Given the description of an element on the screen output the (x, y) to click on. 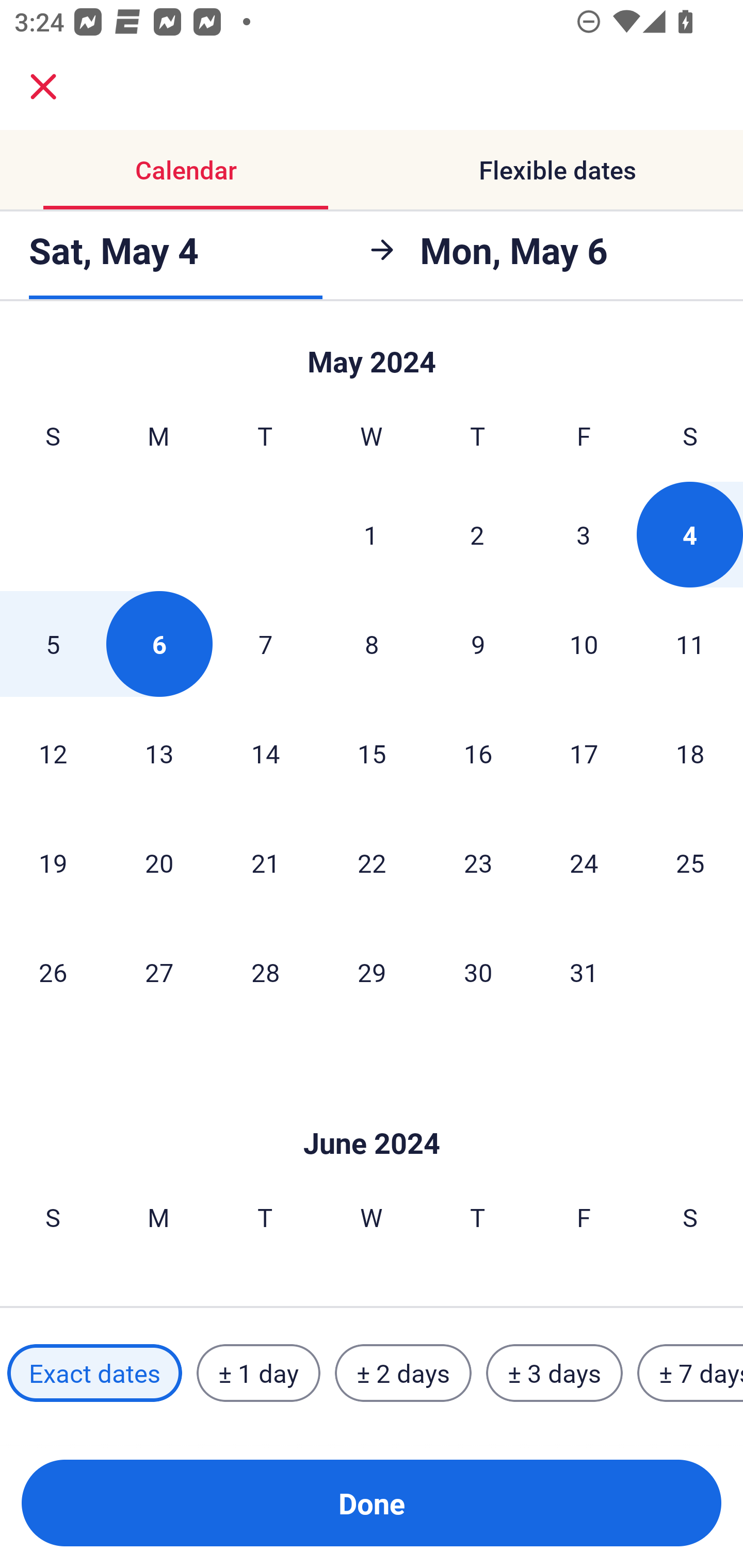
close. (43, 86)
Flexible dates (557, 170)
Skip to Done (371, 352)
1 Wednesday, May 1, 2024 (371, 534)
2 Thursday, May 2, 2024 (477, 534)
3 Friday, May 3, 2024 (583, 534)
7 Tuesday, May 7, 2024 (265, 643)
8 Wednesday, May 8, 2024 (371, 643)
9 Thursday, May 9, 2024 (477, 643)
10 Friday, May 10, 2024 (584, 643)
11 Saturday, May 11, 2024 (690, 643)
12 Sunday, May 12, 2024 (53, 752)
13 Monday, May 13, 2024 (159, 752)
14 Tuesday, May 14, 2024 (265, 752)
15 Wednesday, May 15, 2024 (371, 752)
16 Thursday, May 16, 2024 (477, 752)
17 Friday, May 17, 2024 (584, 752)
18 Saturday, May 18, 2024 (690, 752)
19 Sunday, May 19, 2024 (53, 862)
20 Monday, May 20, 2024 (159, 862)
21 Tuesday, May 21, 2024 (265, 862)
22 Wednesday, May 22, 2024 (371, 862)
23 Thursday, May 23, 2024 (477, 862)
24 Friday, May 24, 2024 (584, 862)
25 Saturday, May 25, 2024 (690, 862)
26 Sunday, May 26, 2024 (53, 971)
27 Monday, May 27, 2024 (159, 971)
28 Tuesday, May 28, 2024 (265, 971)
29 Wednesday, May 29, 2024 (371, 971)
30 Thursday, May 30, 2024 (477, 971)
31 Friday, May 31, 2024 (584, 971)
Skip to Done (371, 1112)
Exact dates (94, 1372)
± 1 day (258, 1372)
± 2 days (403, 1372)
± 3 days (553, 1372)
± 7 days (690, 1372)
Done (371, 1502)
